Given the description of an element on the screen output the (x, y) to click on. 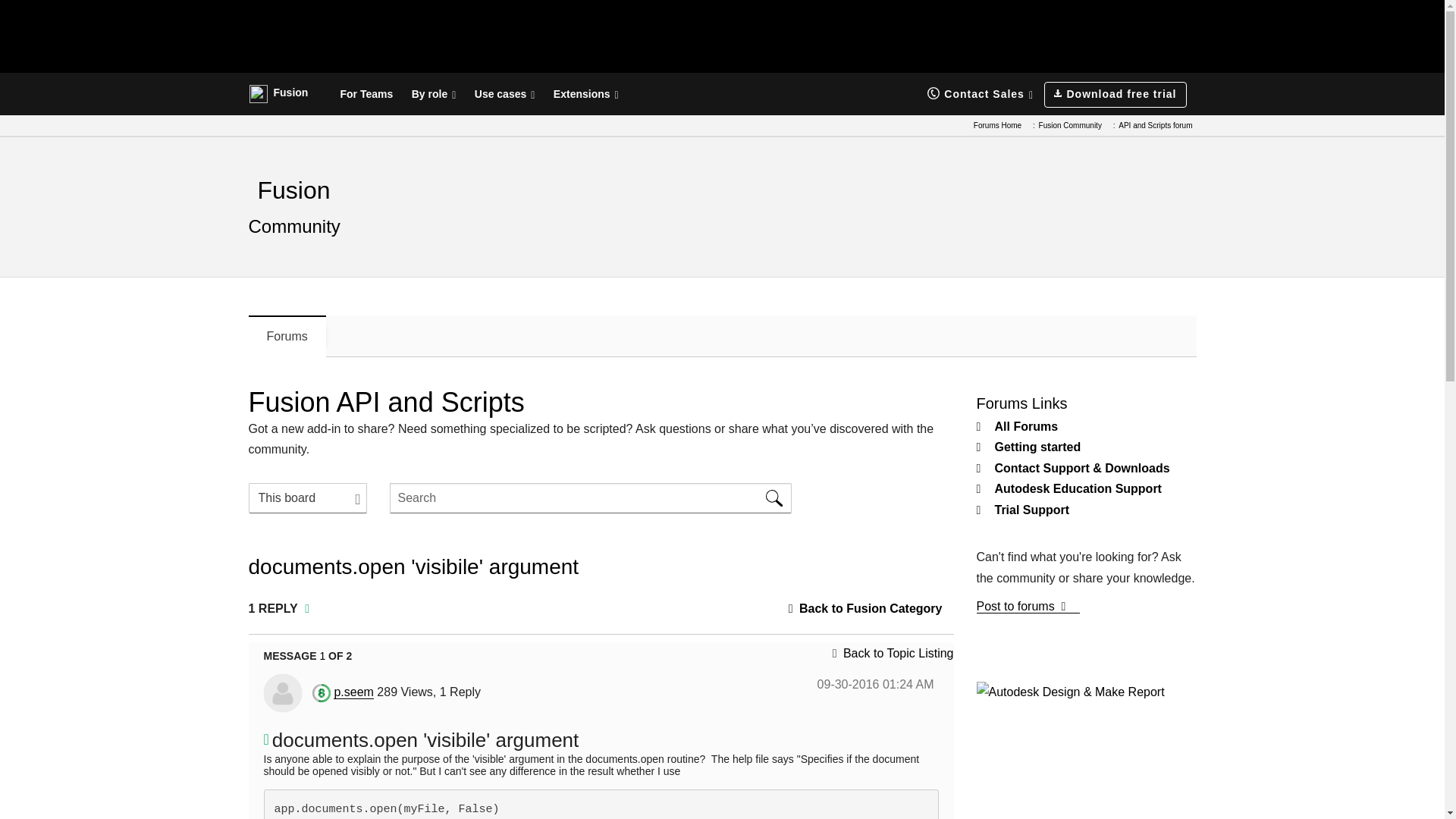
Search (774, 498)
Search (591, 498)
Fusion (277, 92)
For Teams (365, 93)
Contact Sales (980, 93)
Use cases (505, 93)
Advocate (321, 692)
Search Granularity (307, 498)
Extensions (586, 93)
p.seem (282, 692)
